Given the description of an element on the screen output the (x, y) to click on. 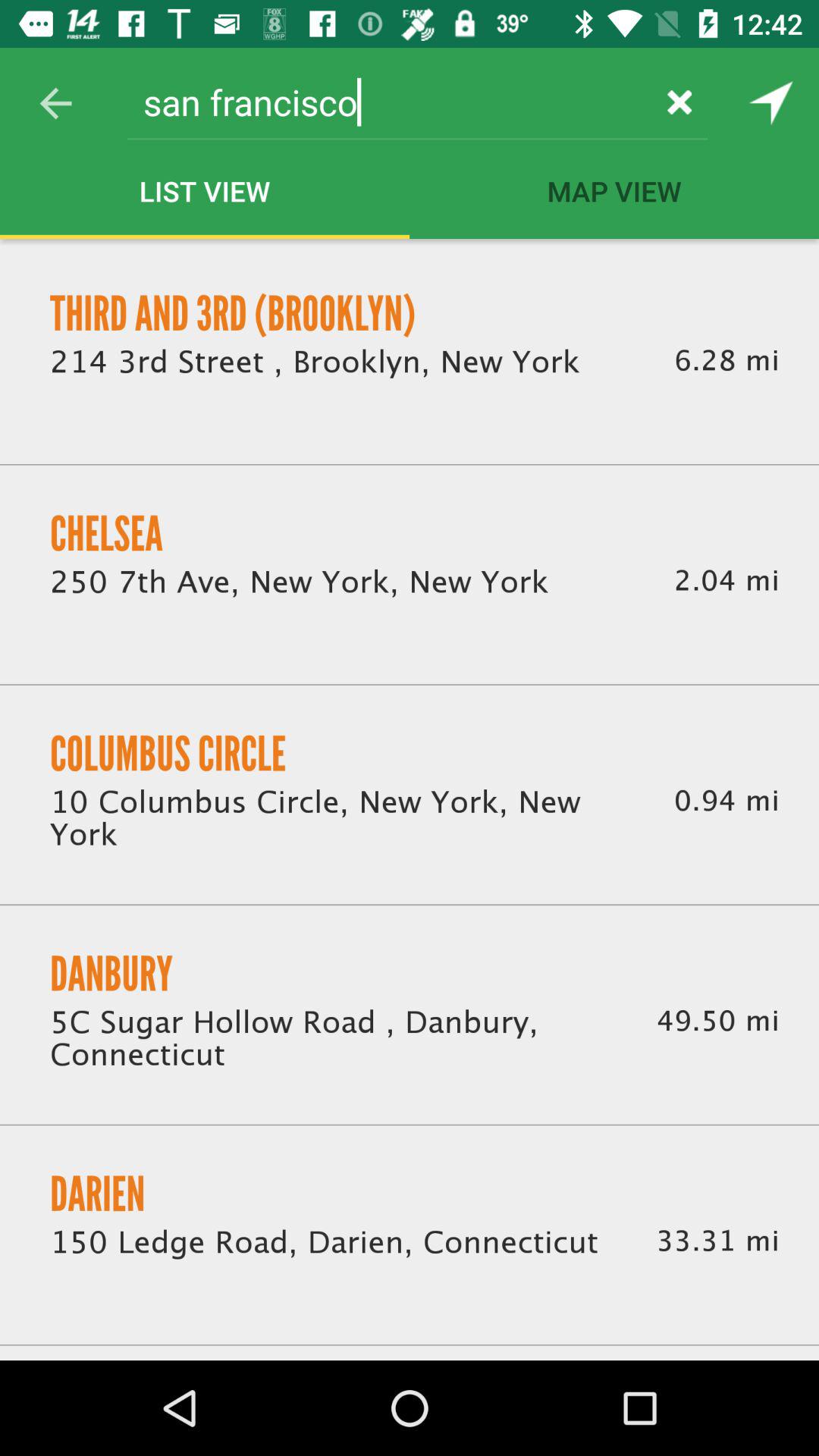
turn on third and 3rd icon (232, 313)
